Given the description of an element on the screen output the (x, y) to click on. 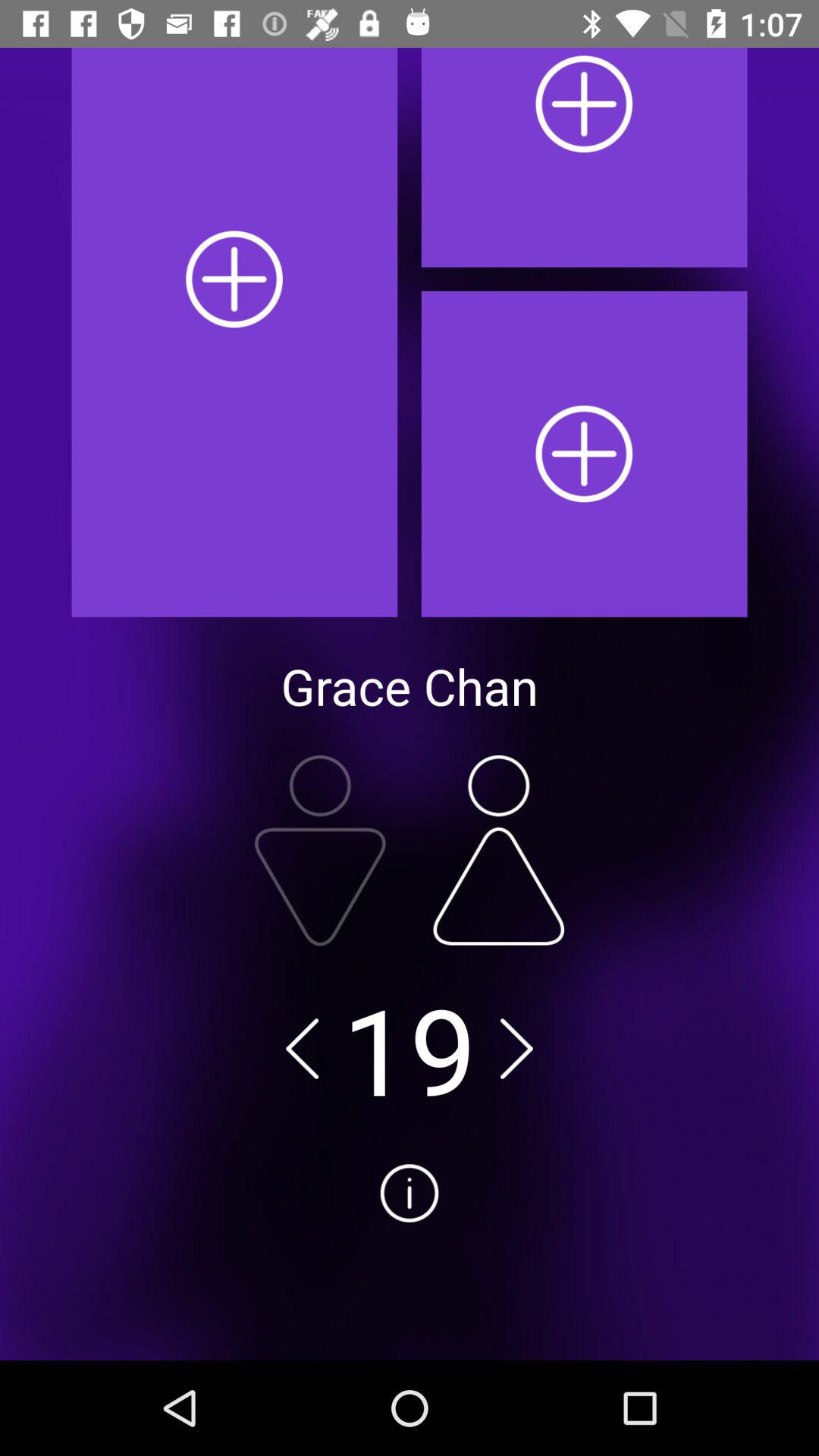
open information menu (409, 1250)
